Given the description of an element on the screen output the (x, y) to click on. 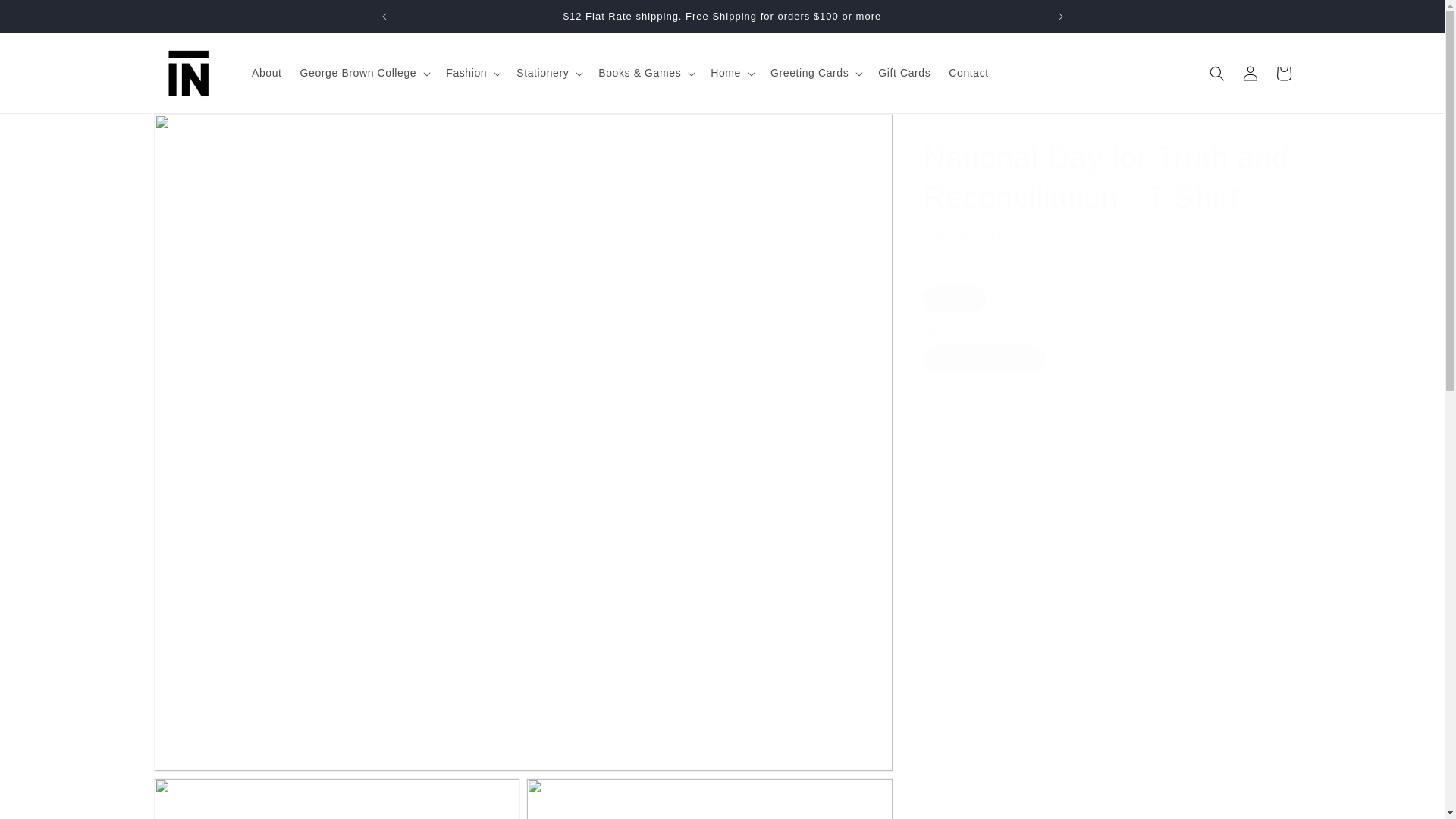
Open media 3 in modal (709, 798)
Skip to content (45, 17)
1 (976, 422)
Open media 2 in modal (335, 798)
